Given the description of an element on the screen output the (x, y) to click on. 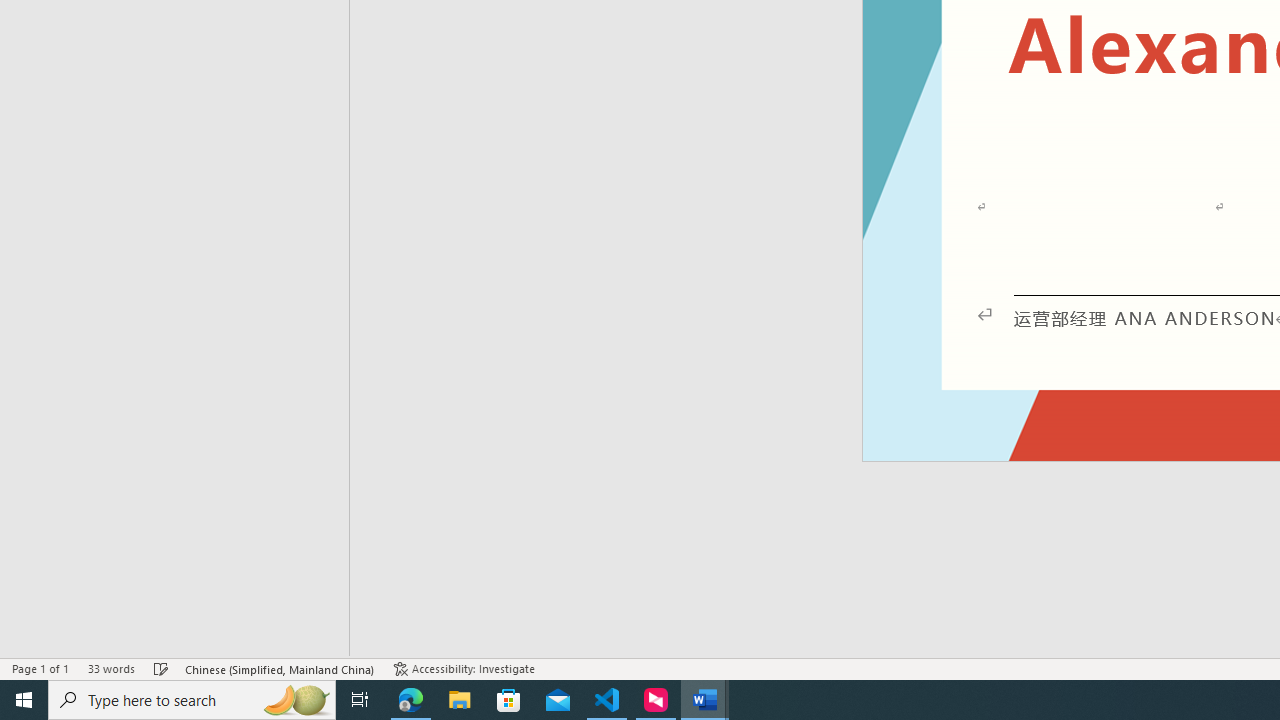
Page Number Page 1 of 1 (39, 668)
Accessibility Checker Accessibility: Investigate (464, 668)
Spelling and Grammar Check Checking (161, 668)
Language Chinese (Simplified, Mainland China) (279, 668)
